Given the description of an element on the screen output the (x, y) to click on. 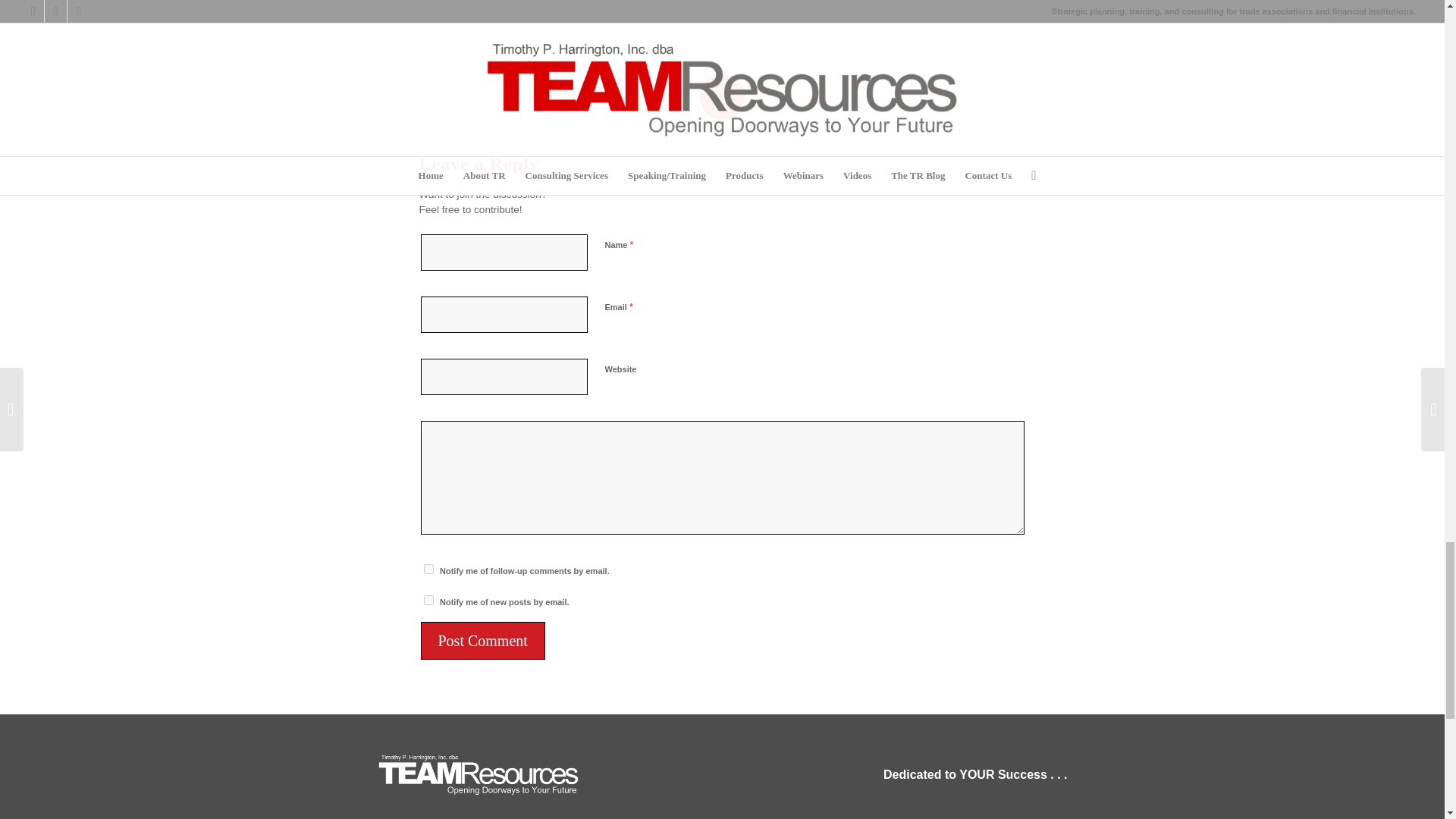
subscribe (427, 569)
Post Comment (482, 640)
subscribe (427, 600)
